Given the description of an element on the screen output the (x, y) to click on. 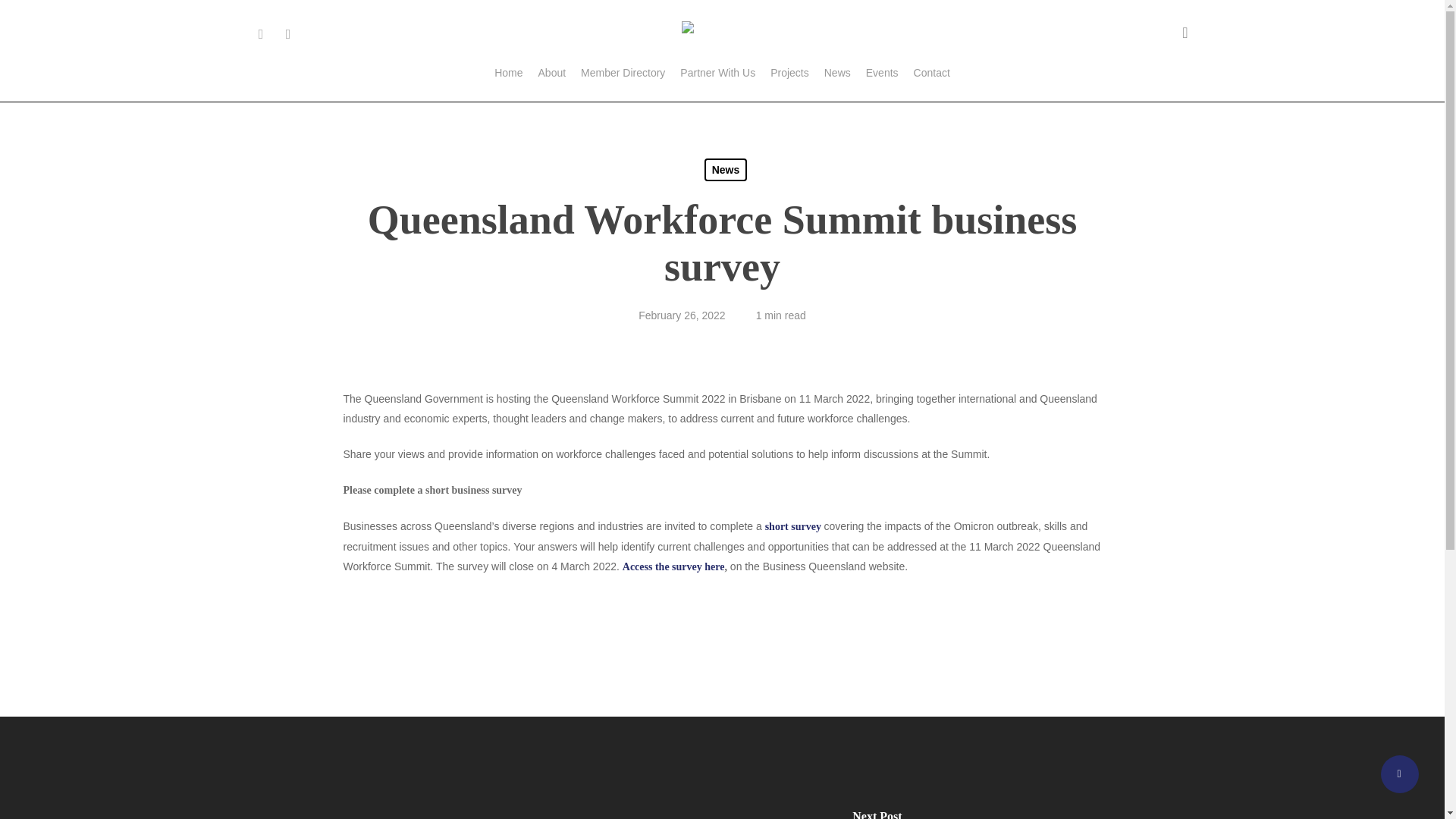
email (288, 31)
Partner With Us (717, 72)
Home (508, 72)
Access the survey here (674, 566)
Projects (789, 72)
News (837, 72)
Contact (932, 72)
Events (882, 72)
facebook (261, 31)
About (552, 72)
search (1184, 32)
short survey (793, 526)
News (726, 169)
Member Directory (622, 72)
